Given the description of an element on the screen output the (x, y) to click on. 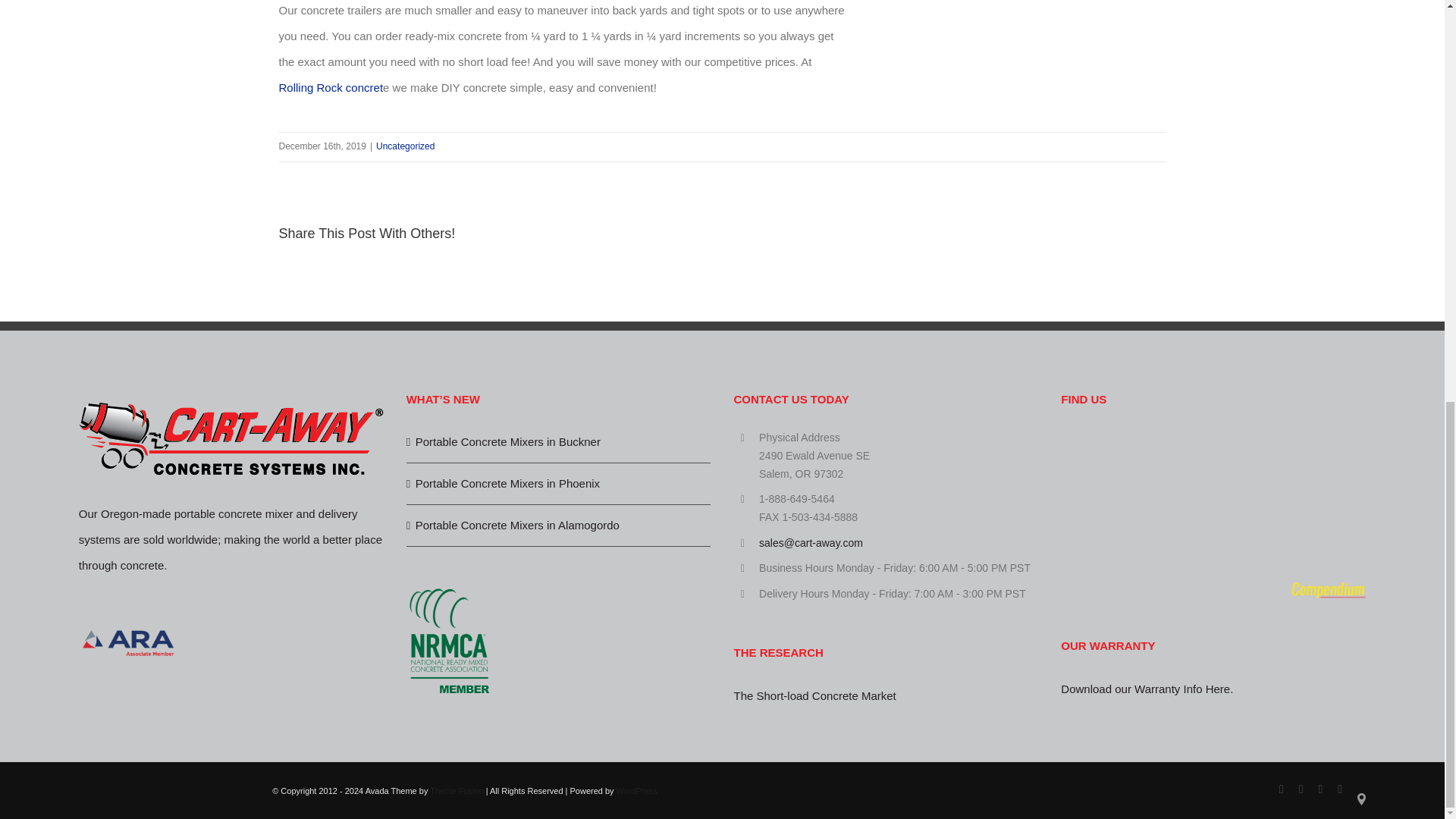
Locator (1360, 796)
